Given the description of an element on the screen output the (x, y) to click on. 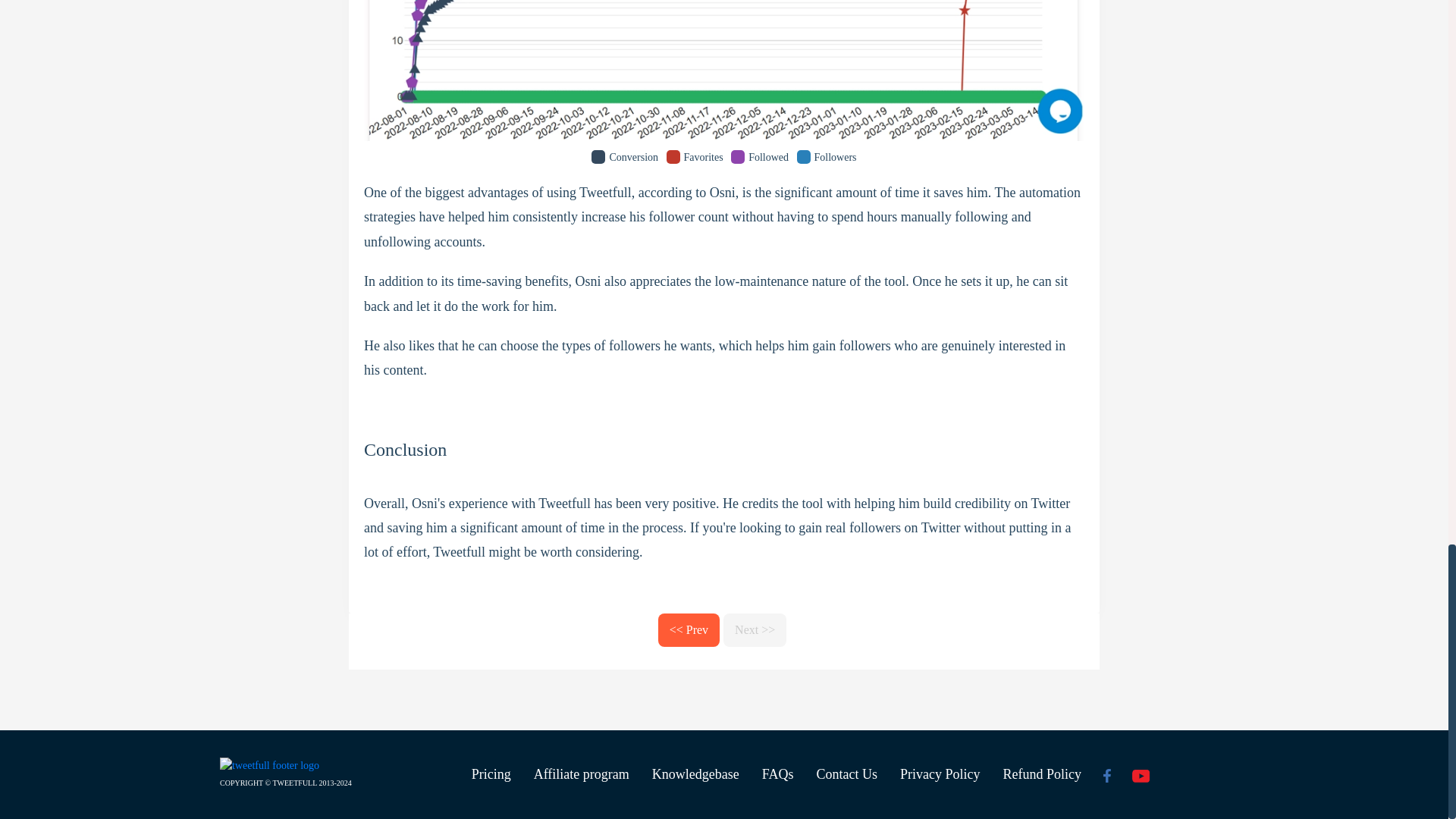
Contact Us (846, 774)
Affiliate program (581, 774)
FAQs (778, 774)
Privacy Policy (939, 774)
Refund Policy (1042, 774)
Knowledgebase (695, 774)
Pricing (491, 774)
